Given the description of an element on the screen output the (x, y) to click on. 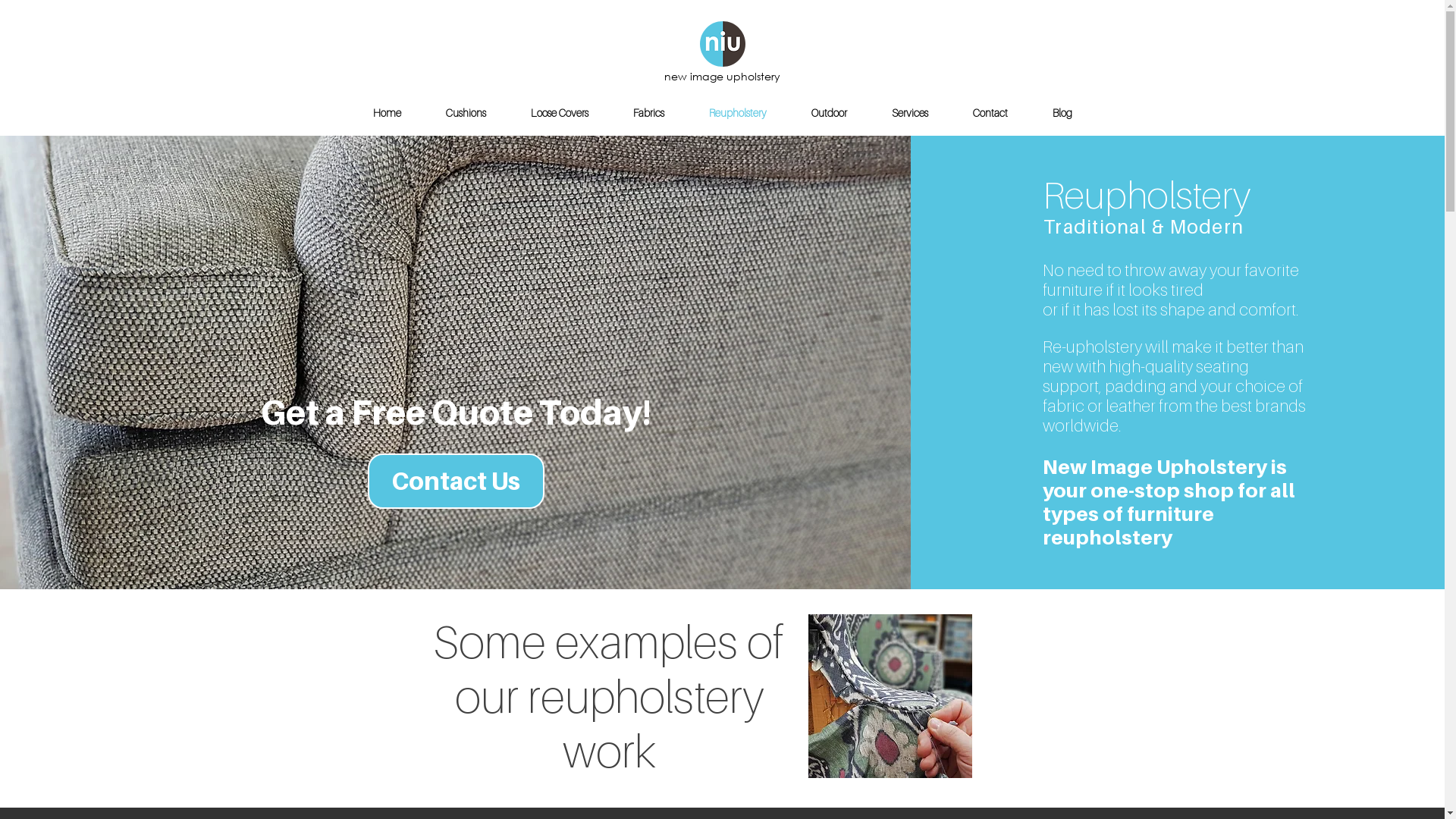
Loose Covers Element type: text (559, 112)
Outdoor Element type: text (828, 112)
Fabrics Element type: text (649, 112)
Contact Element type: text (990, 112)
Reupholstery Element type: text (738, 112)
Get a Free Quote Today! Element type: text (455, 412)
Home Element type: text (386, 112)
Contact Us Element type: text (455, 480)
Cushions Element type: text (465, 112)
Blog Element type: text (1061, 112)
